Given the description of an element on the screen output the (x, y) to click on. 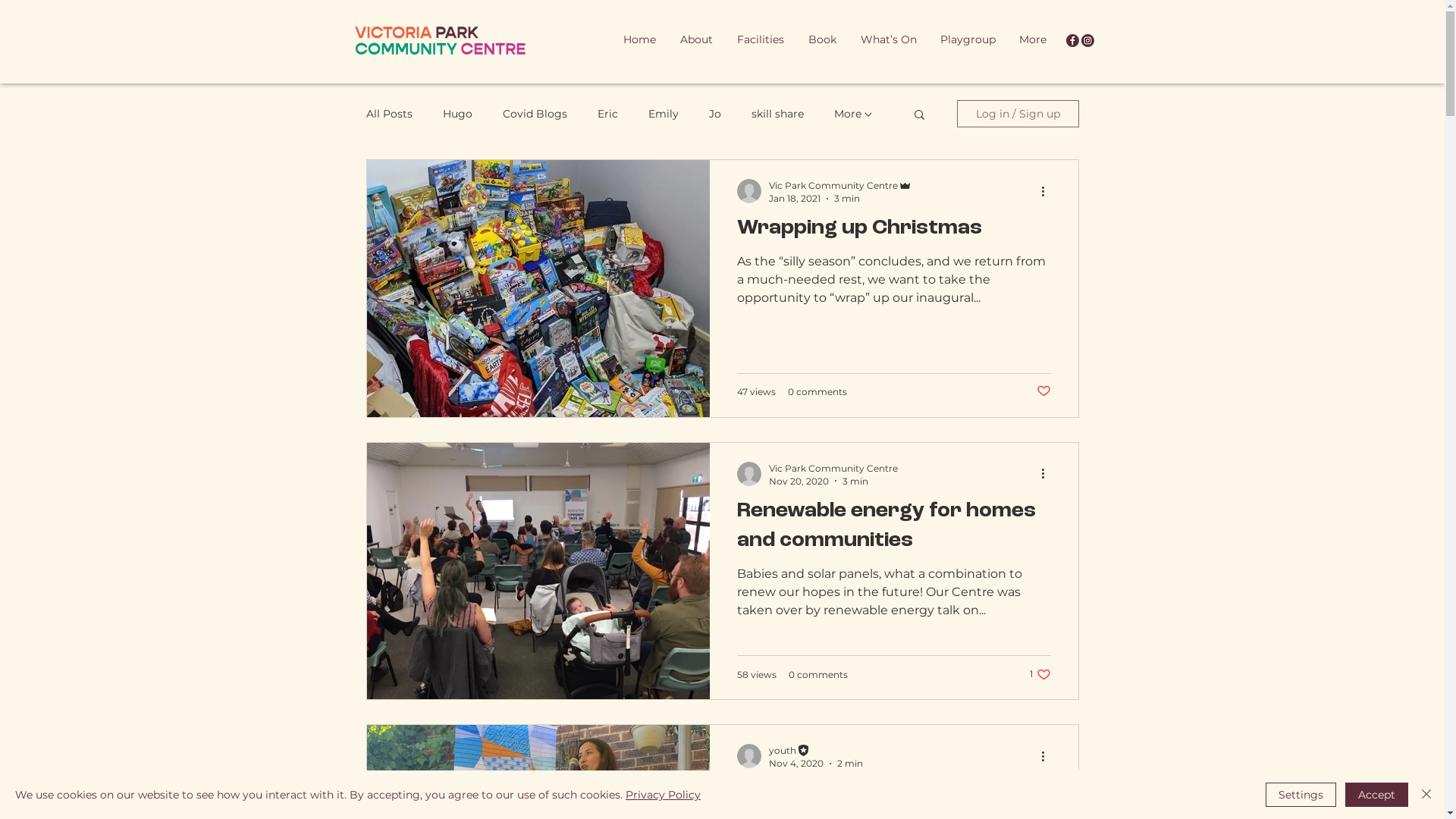
Playgroup Element type: text (967, 39)
0 comments Element type: text (817, 674)
Hugo Element type: text (457, 113)
Emily Element type: text (662, 113)
Accept Element type: text (1376, 794)
Post not marked as liked Element type: text (1042, 391)
Wrapping up Christmas Element type: text (894, 232)
Renewable energy for homes and communities Element type: text (894, 529)
All Posts Element type: text (388, 113)
1 like. Post not marked as liked
1 Element type: text (1040, 674)
Book Element type: text (822, 39)
Covid Blogs Element type: text (534, 113)
Jo Element type: text (714, 113)
Eric Element type: text (607, 113)
Privacy Policy Element type: text (662, 794)
Home Element type: text (639, 39)
About Element type: text (695, 39)
skill share Element type: text (776, 113)
Facilities Element type: text (760, 39)
0 comments Element type: text (816, 391)
Settings Element type: text (1300, 794)
Log in / Sign up Element type: text (1018, 113)
